Given the description of an element on the screen output the (x, y) to click on. 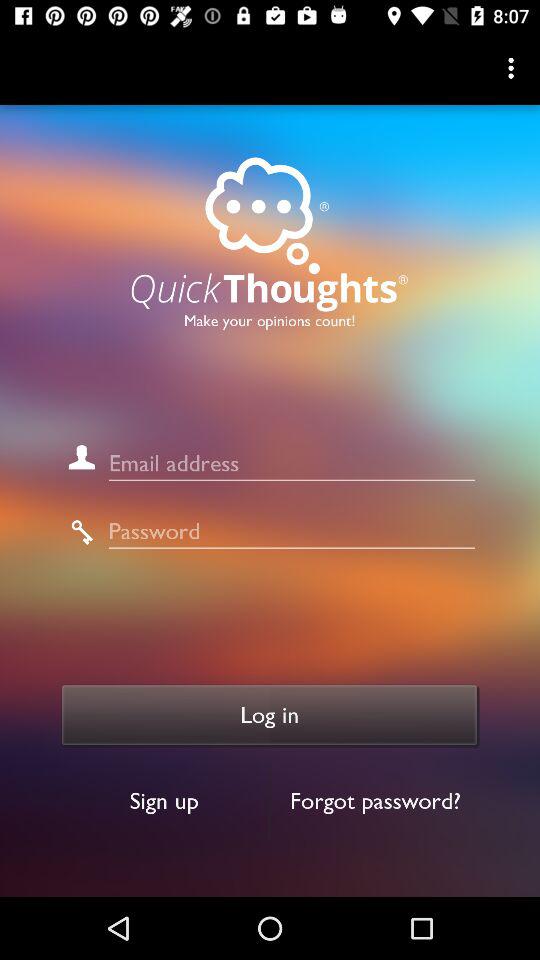
field to input password (291, 531)
